Given the description of an element on the screen output the (x, y) to click on. 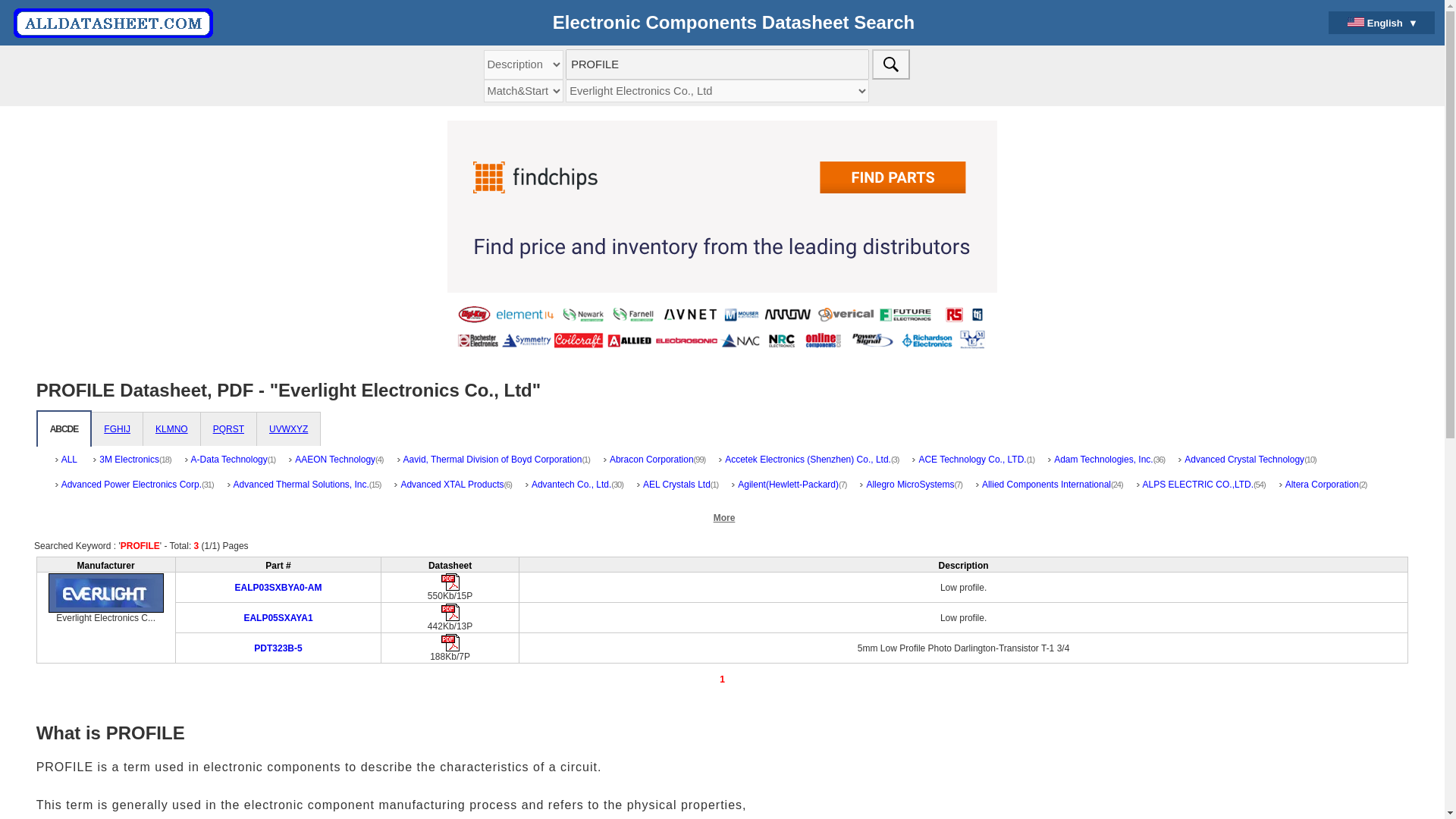
PROFILE (717, 64)
ALL (66, 464)
UVWXYZ (288, 428)
ABCDE (63, 428)
FGHIJ (116, 428)
PQRST (228, 428)
KLMNO (171, 428)
PROFILE (717, 64)
